Given the description of an element on the screen output the (x, y) to click on. 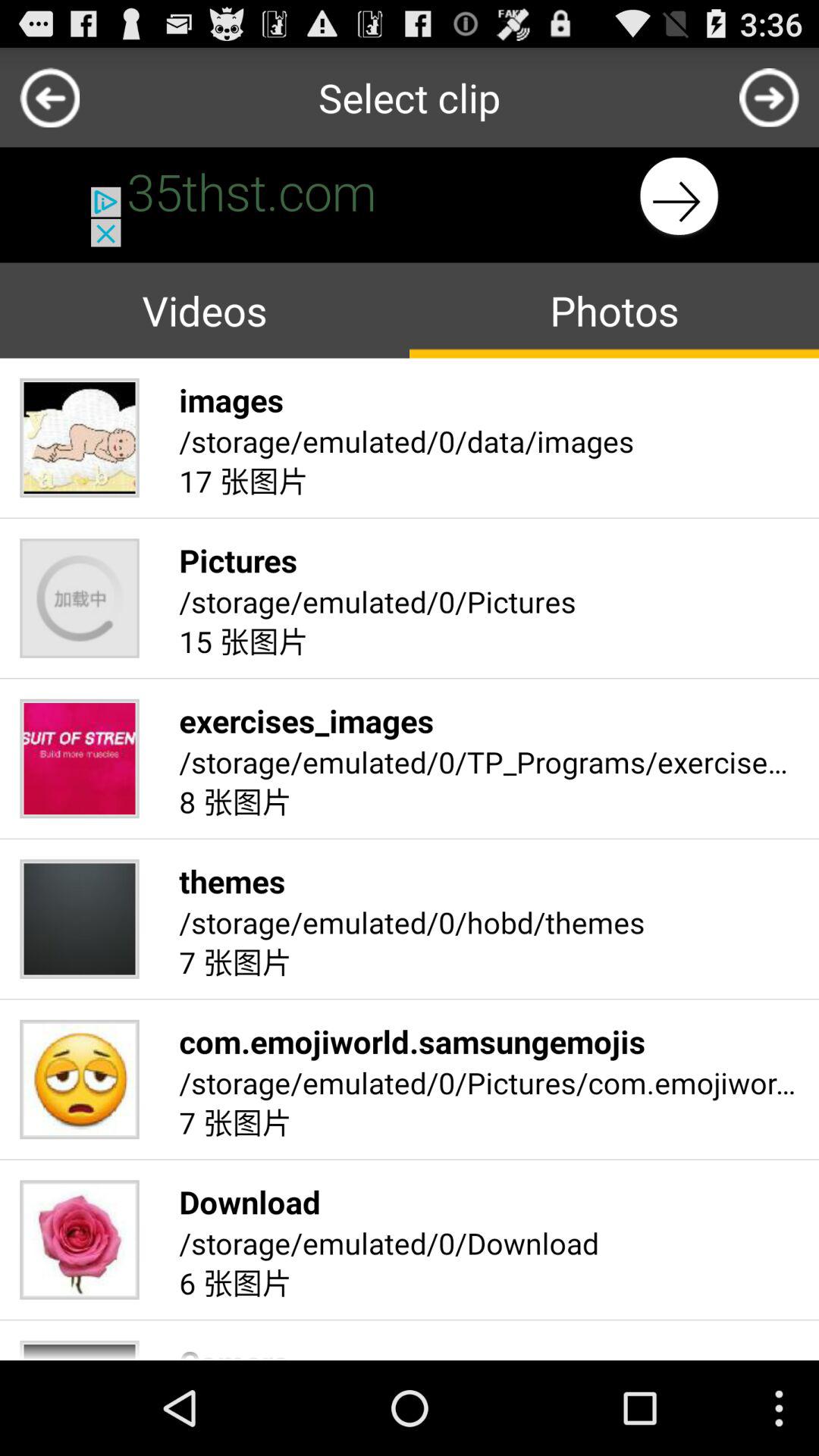
advertisement at top (409, 196)
